Given the description of an element on the screen output the (x, y) to click on. 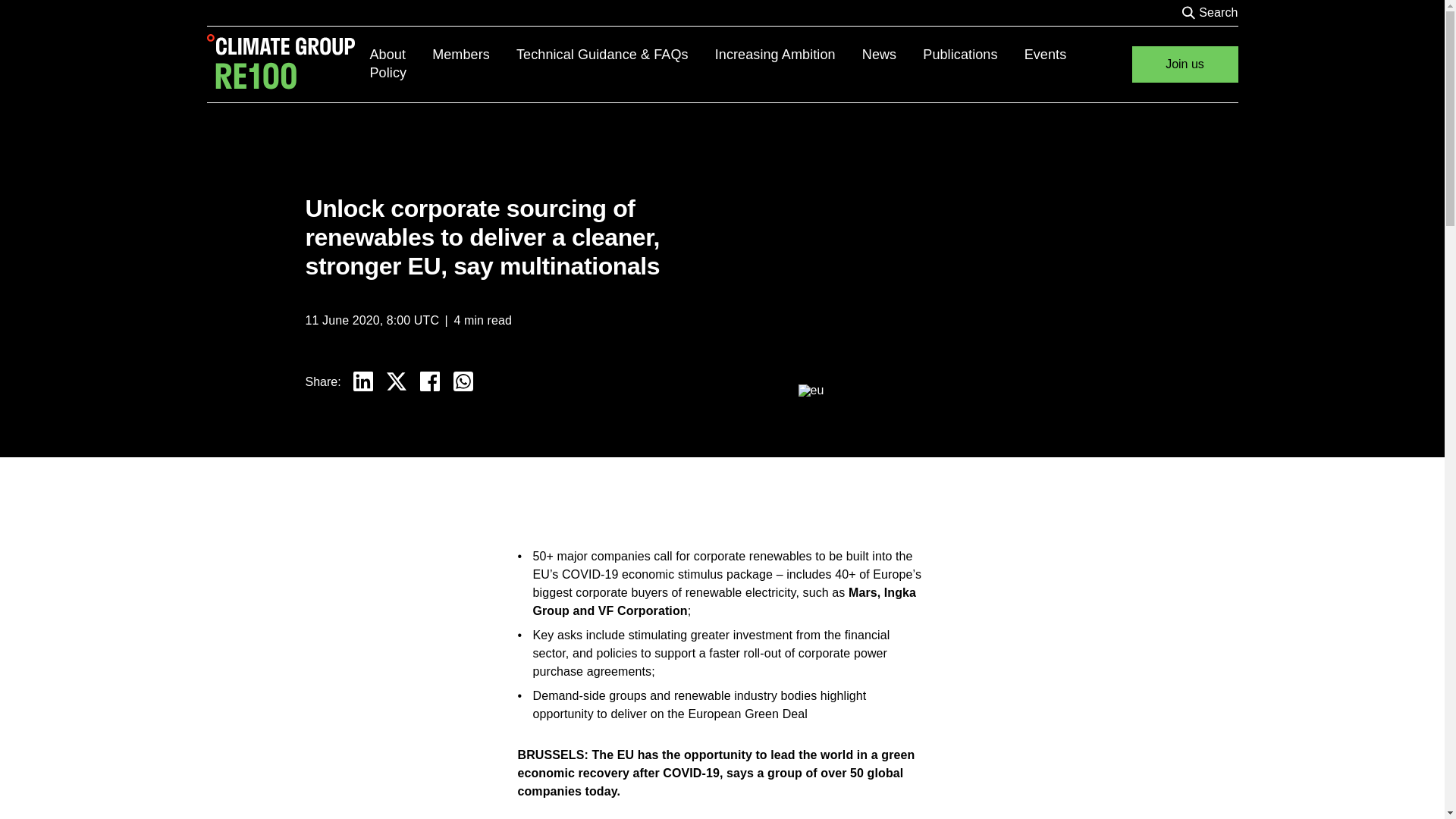
About (400, 54)
Events (1057, 54)
Policy (729, 81)
News (892, 54)
Search (1217, 13)
Join us (1184, 63)
Publications (973, 54)
Join us (1184, 63)
Increasing Ambition (787, 54)
Members (474, 54)
